Given the description of an element on the screen output the (x, y) to click on. 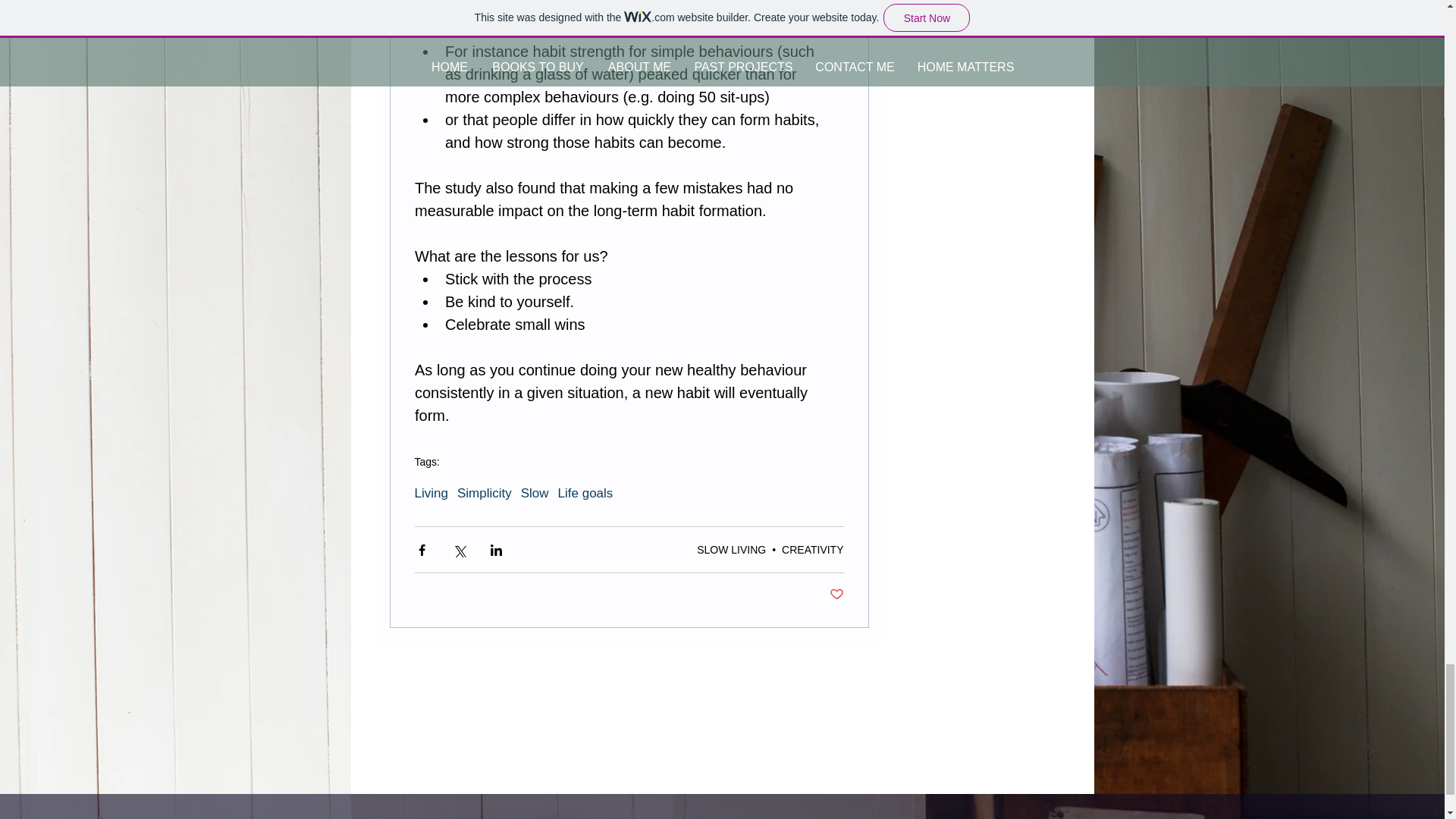
Slow (534, 493)
Post not marked as liked (836, 594)
Life goals (584, 493)
Simplicity (484, 493)
Living (429, 493)
SLOW LIVING (731, 549)
CREATIVITY (812, 549)
